Given the description of an element on the screen output the (x, y) to click on. 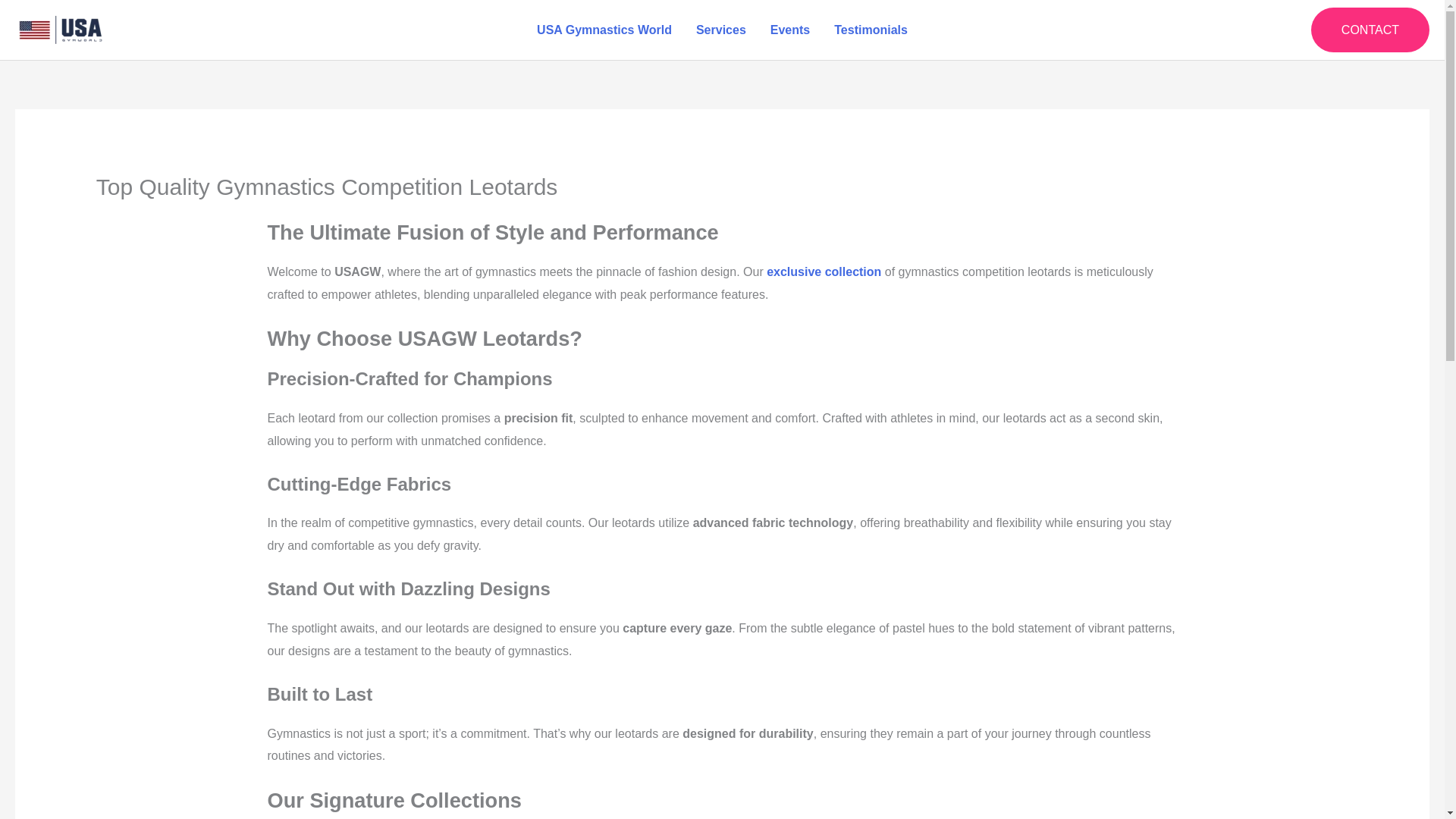
Events (790, 29)
USA Gymnastics World (604, 29)
Services (721, 29)
CONTACT (1370, 30)
exclusive collection (823, 271)
Testimonials (871, 29)
